Given the description of an element on the screen output the (x, y) to click on. 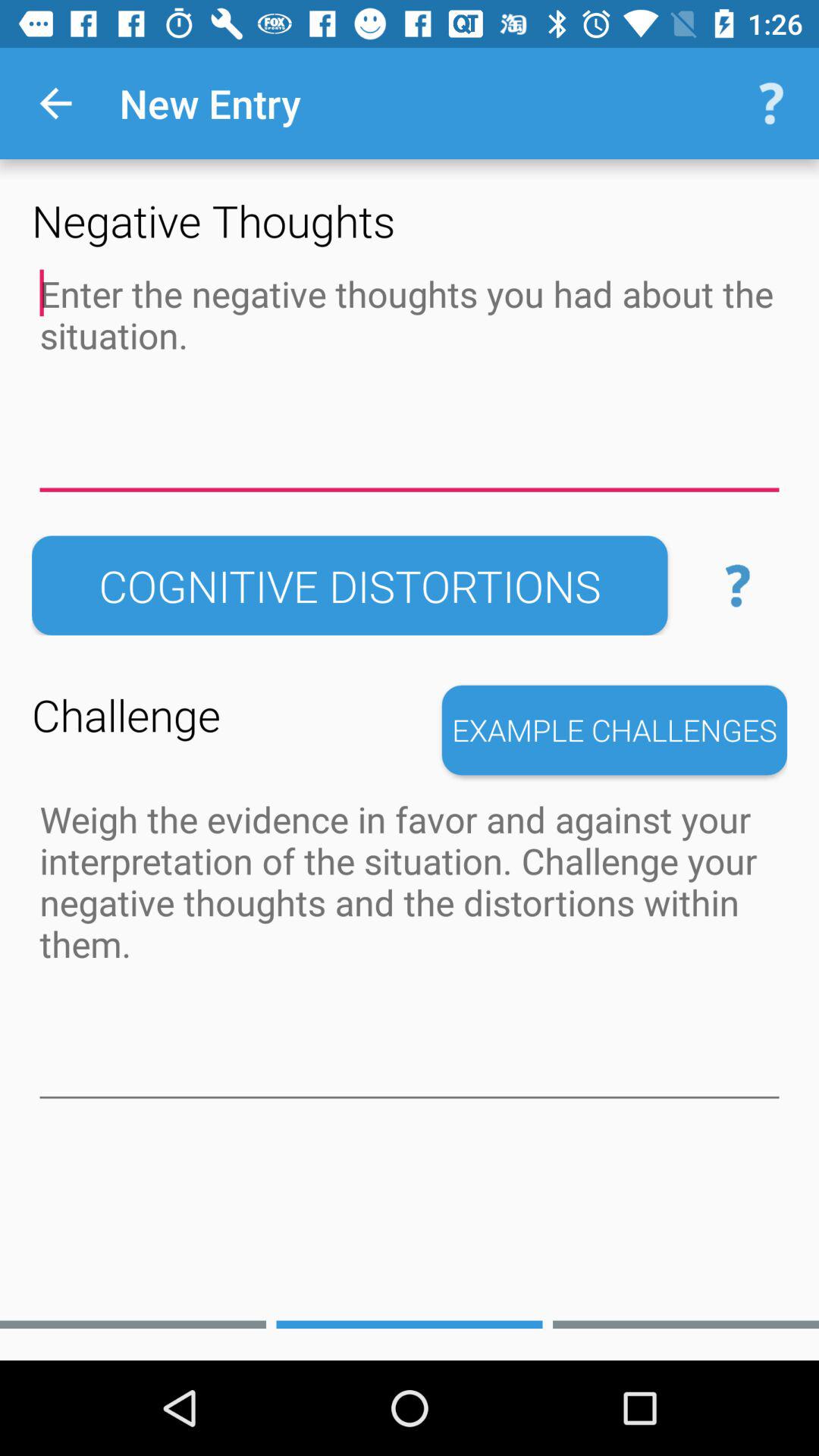
tap app to the right of challenge icon (614, 730)
